Given the description of an element on the screen output the (x, y) to click on. 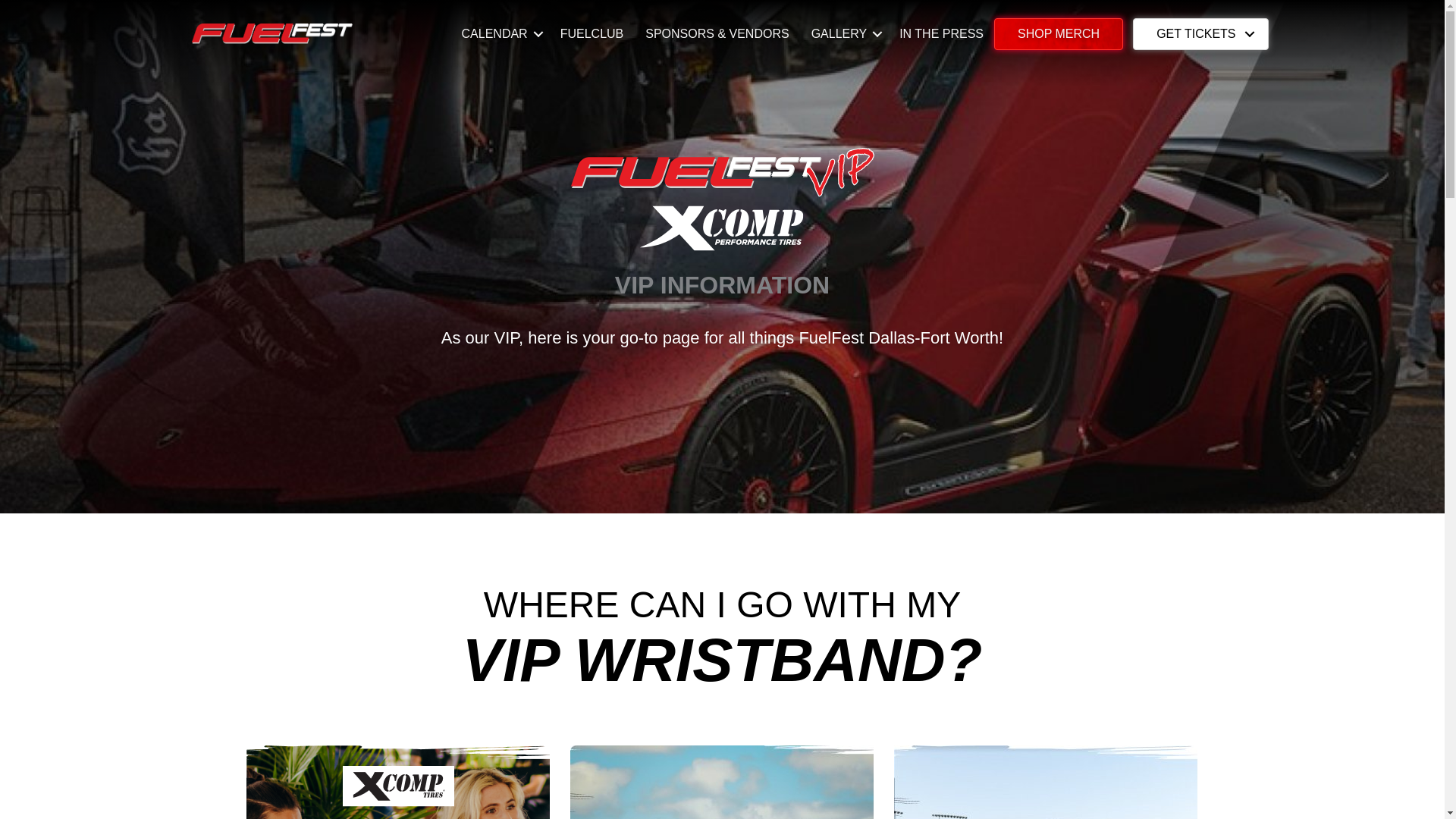
GALLERY (844, 34)
vip-stage-pit-img (1045, 782)
vip-drift (722, 782)
CALENDAR (499, 34)
ffvip-xcomp (721, 199)
FUELCLUB (592, 34)
x-comp-vip-img (398, 782)
